Given the description of an element on the screen output the (x, y) to click on. 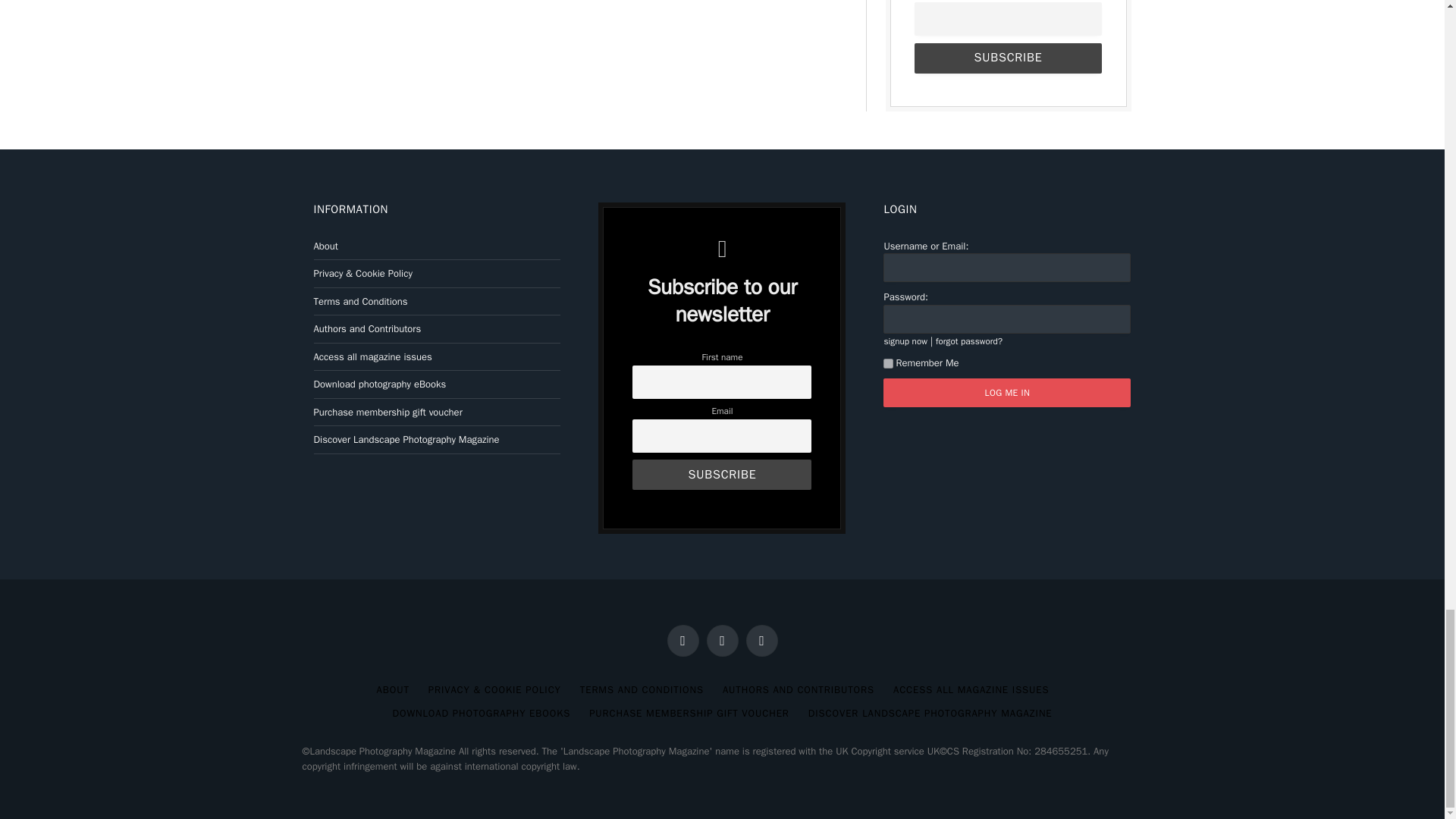
Log Me In (1007, 392)
Subscribe (720, 474)
forever (888, 363)
Username (1007, 267)
Subscribe (1007, 58)
Password (1007, 318)
